Given the description of an element on the screen output the (x, y) to click on. 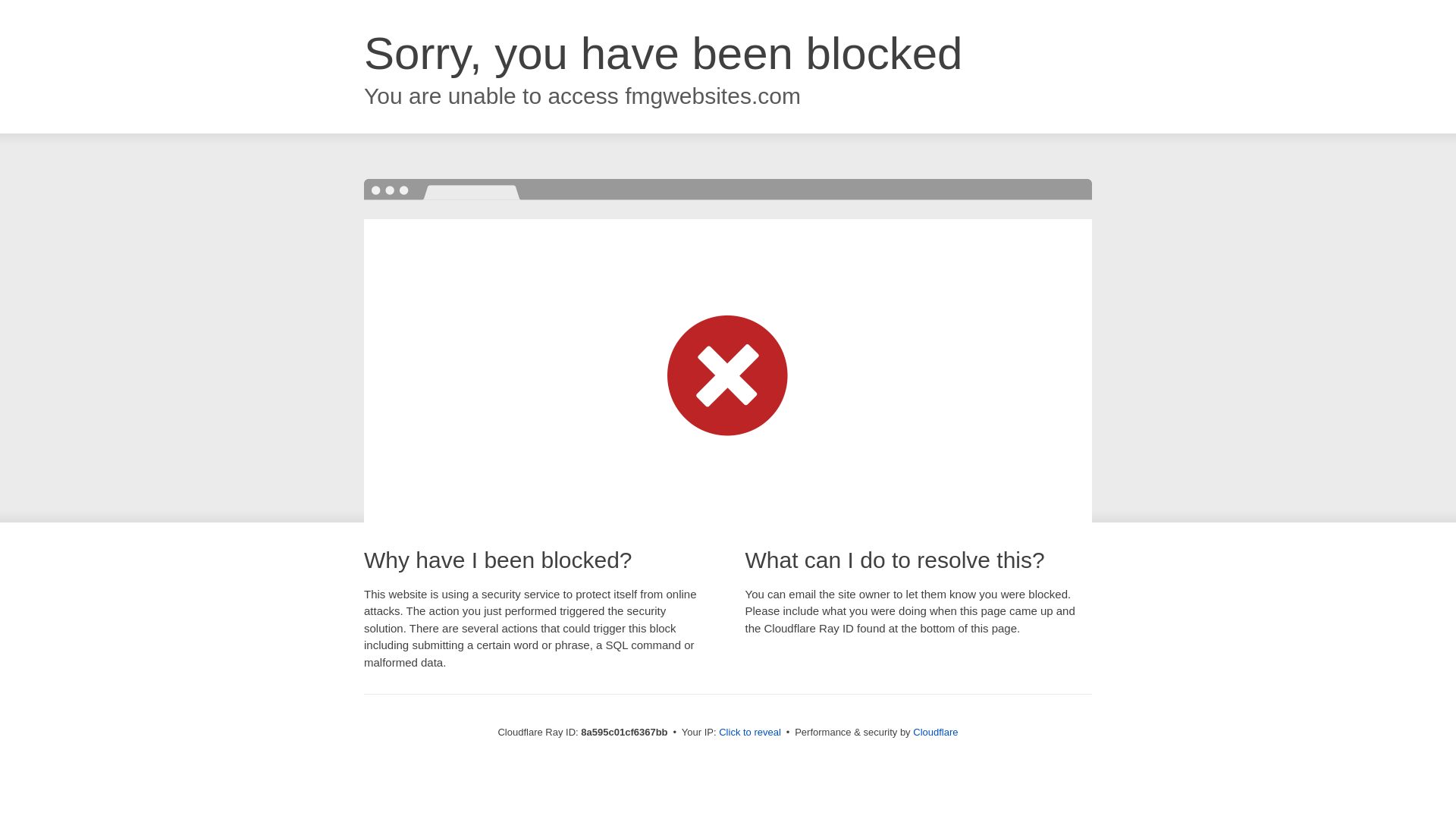
Click to reveal (749, 732)
Cloudflare (935, 731)
